Given the description of an element on the screen output the (x, y) to click on. 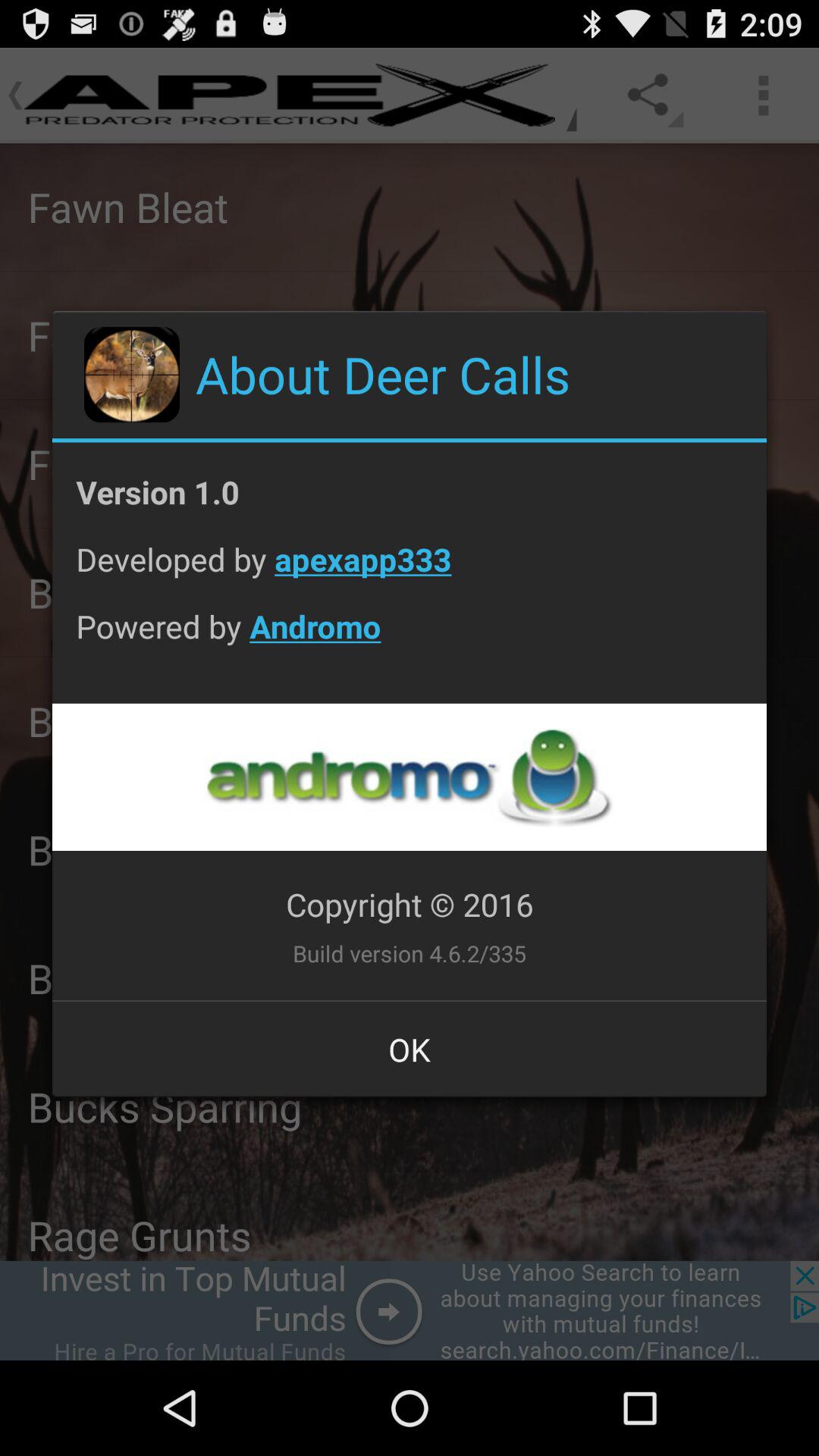
turn off the developed by apexapp333 icon (409, 570)
